Given the description of an element on the screen output the (x, y) to click on. 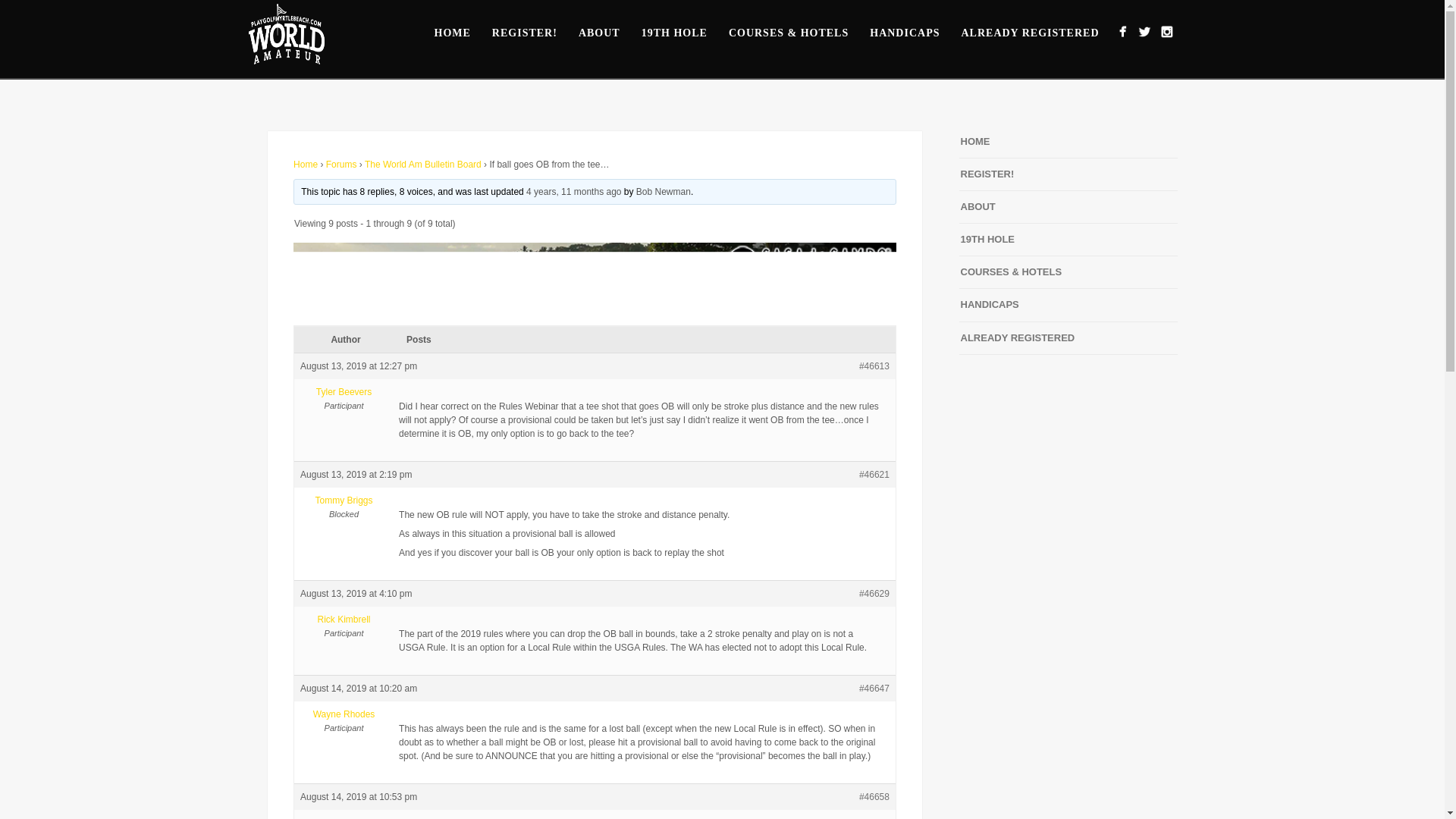
ALREADY REGISTERED (1029, 33)
REGISTER! (524, 33)
View Tyler Beevers's profile (343, 391)
ABOUT (598, 33)
Home (305, 163)
View Tommy Briggs's profile (343, 499)
Tyler Beevers (343, 391)
Jeffrey Barbas (343, 817)
View Rick Kimbrell's profile (343, 619)
Bob Newman (663, 191)
Rick Kimbrell (343, 619)
HANDICAPS (904, 33)
View Jeffrey Barbas's profile (343, 817)
REGISTER! (986, 173)
The Facebook (1122, 31)
